Given the description of an element on the screen output the (x, y) to click on. 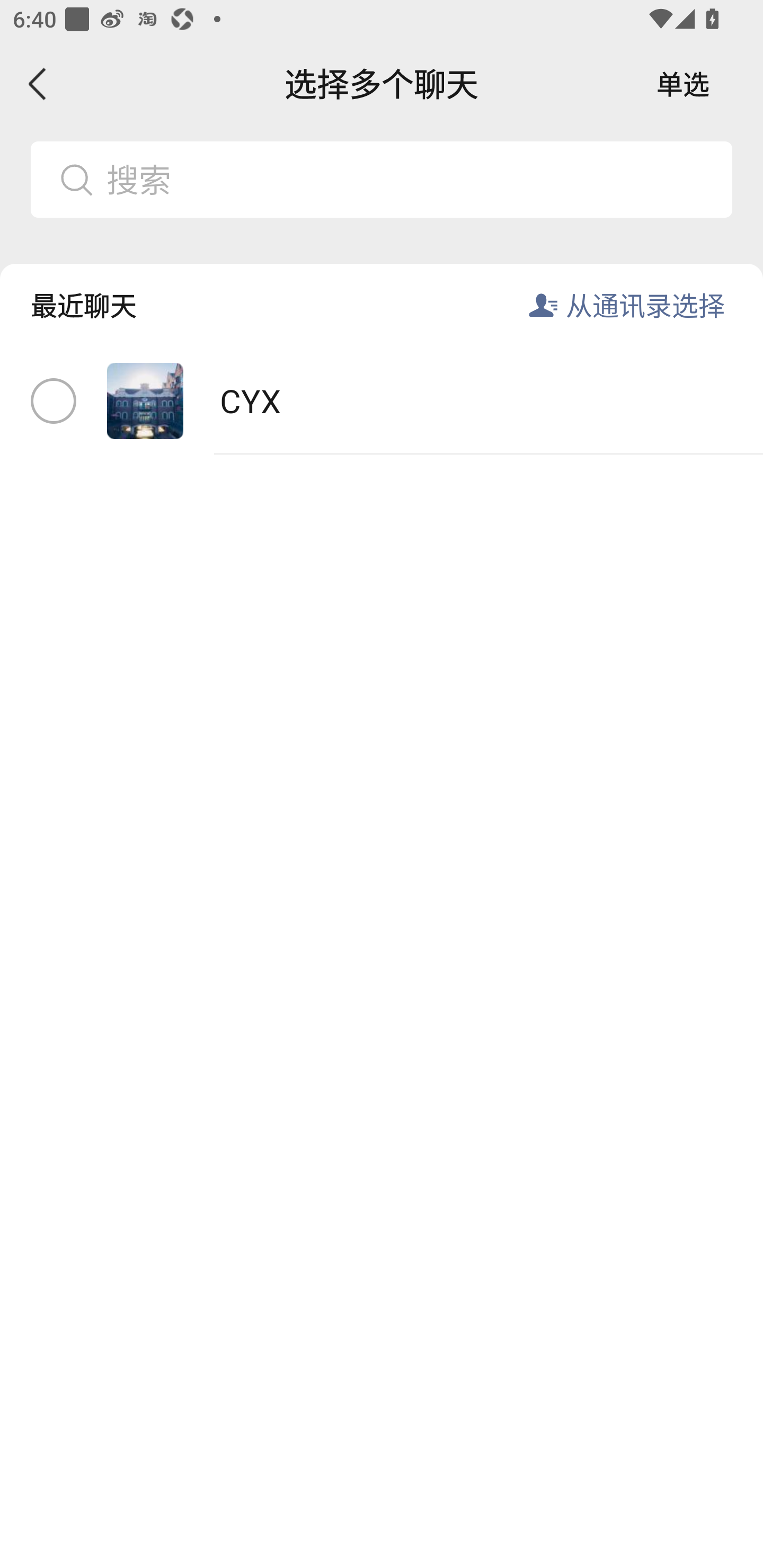
返回 (38, 83)
单选 (683, 83)
搜索 (411, 179)
从通讯录选择 (645, 304)
CYX (381, 401)
